Given the description of an element on the screen output the (x, y) to click on. 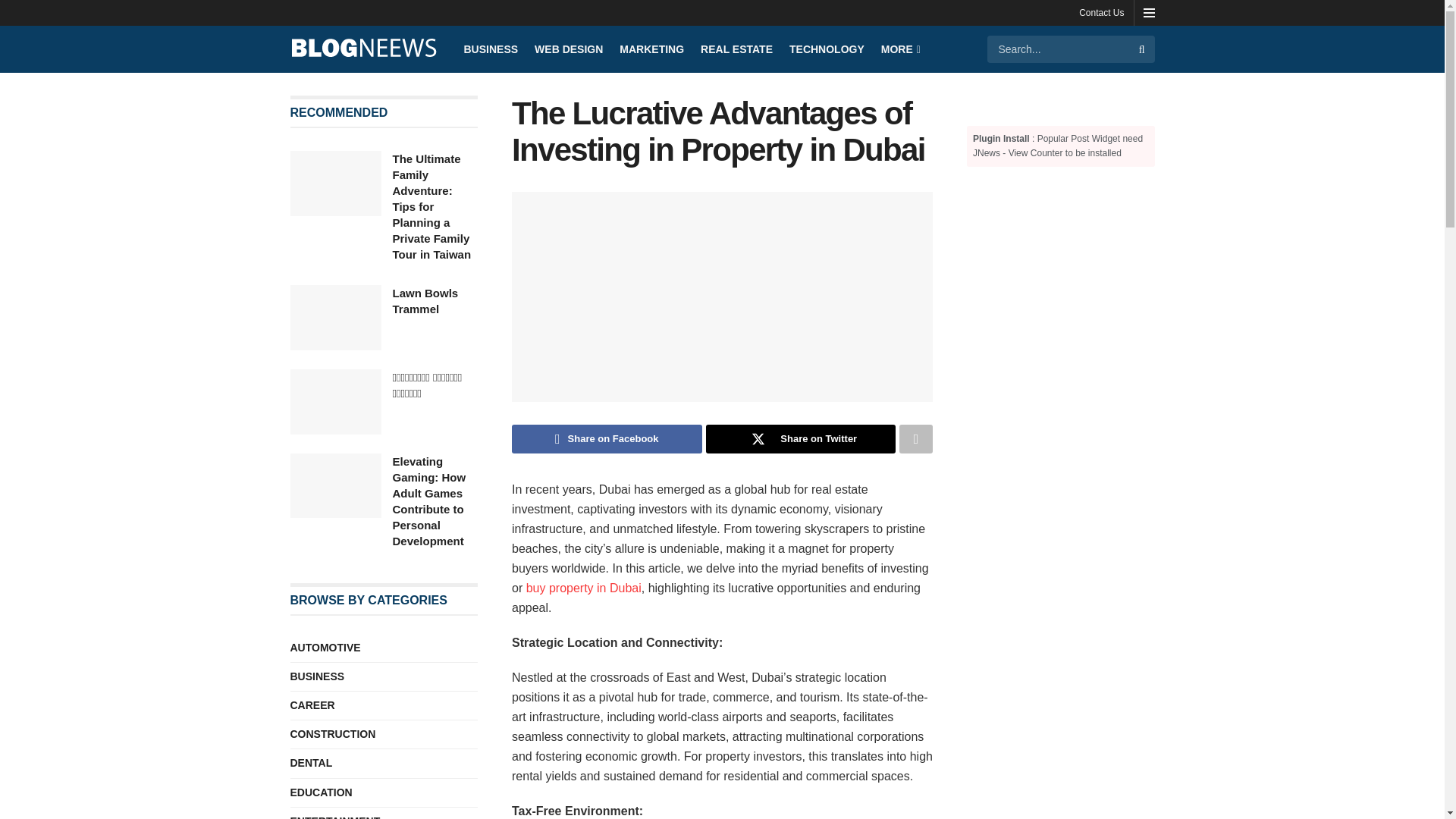
MARKETING (652, 48)
TECHNOLOGY (826, 48)
REAL ESTATE (736, 48)
Contact Us (1101, 12)
WEB DESIGN (568, 48)
BUSINESS (491, 48)
